Given the description of an element on the screen output the (x, y) to click on. 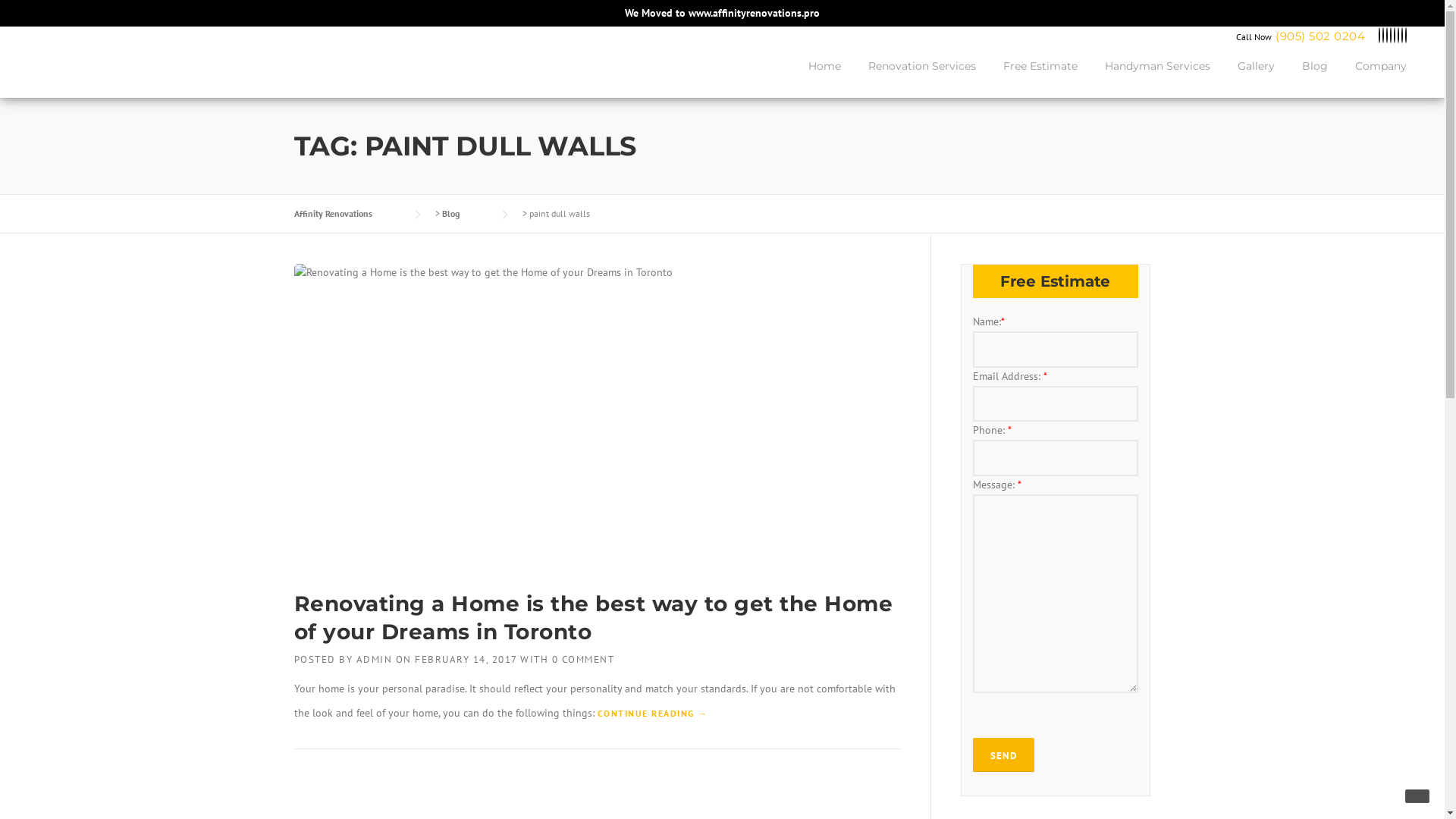
Facebook Element type: hover (1382, 35)
Send Element type: text (1002, 754)
Blog Element type: text (465, 213)
Renovation Services Element type: text (921, 77)
Twitter Element type: hover (1379, 35)
Search Element type: text (36, 17)
Company Element type: text (1373, 77)
Linkedin Element type: hover (1386, 35)
www.affinityrenovations.pro Element type: text (753, 12)
Google Plus Element type: hover (1394, 35)
Handyman Services Element type: text (1157, 77)
Yelp Element type: hover (1398, 35)
(905) 502 0204 Element type: text (1320, 35)
Gallery Element type: text (1255, 77)
Blog Element type: text (1314, 77)
ADMIN Element type: text (374, 658)
Pinterest Element type: hover (1390, 35)
Flickr Element type: hover (1401, 35)
Affinity Renovations Element type: text (348, 213)
0 COMMENT Element type: text (583, 658)
Email Element type: hover (1405, 35)
Free Estimate Element type: text (1040, 77)
FEBRUARY 14, 2017 Element type: text (465, 658)
Home Element type: text (824, 77)
